Given the description of an element on the screen output the (x, y) to click on. 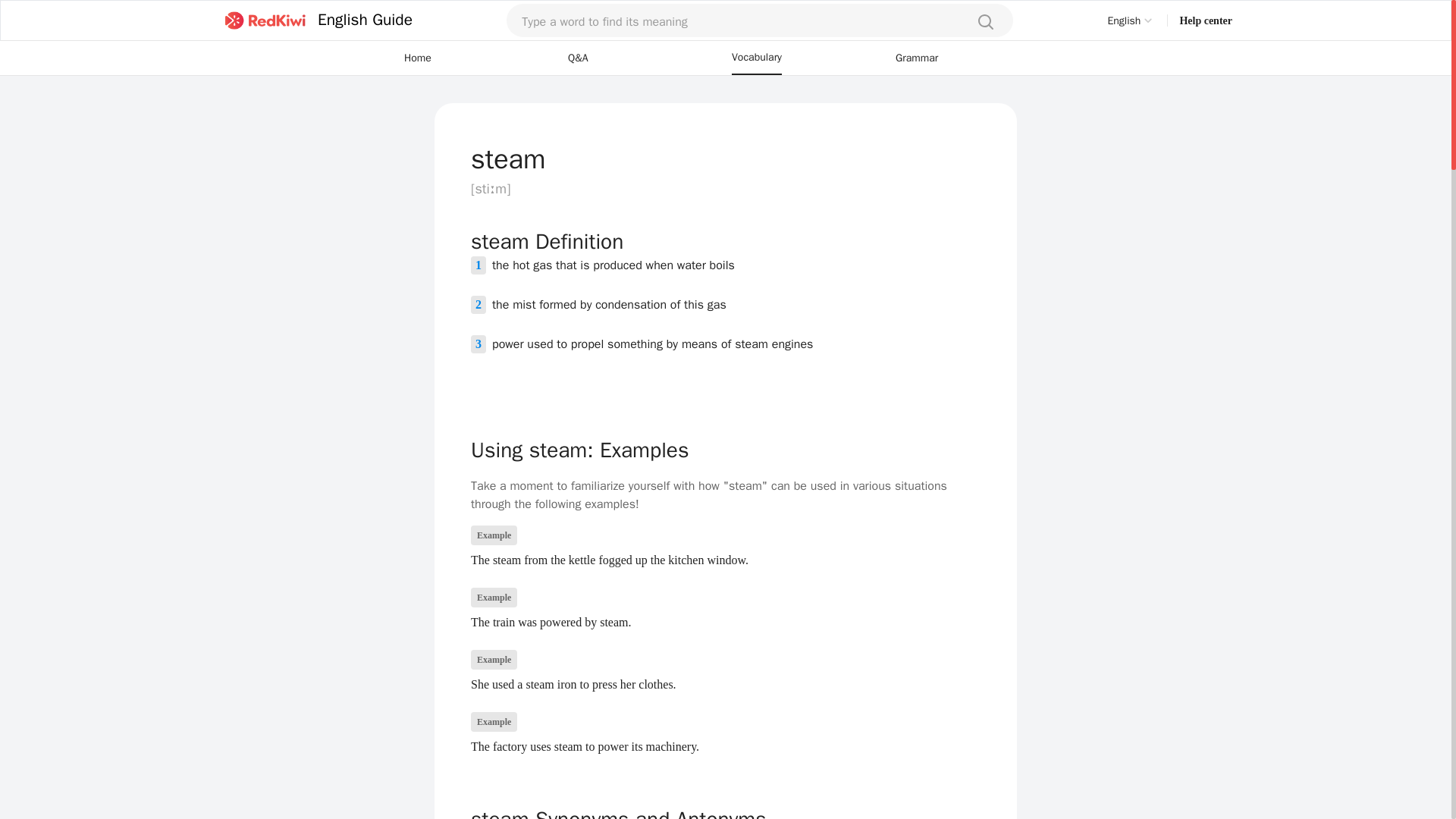
English (1131, 19)
English Guide (315, 20)
Vocabulary (756, 57)
Grammar (916, 57)
English Guide (364, 20)
Help center (1205, 20)
